Given the description of an element on the screen output the (x, y) to click on. 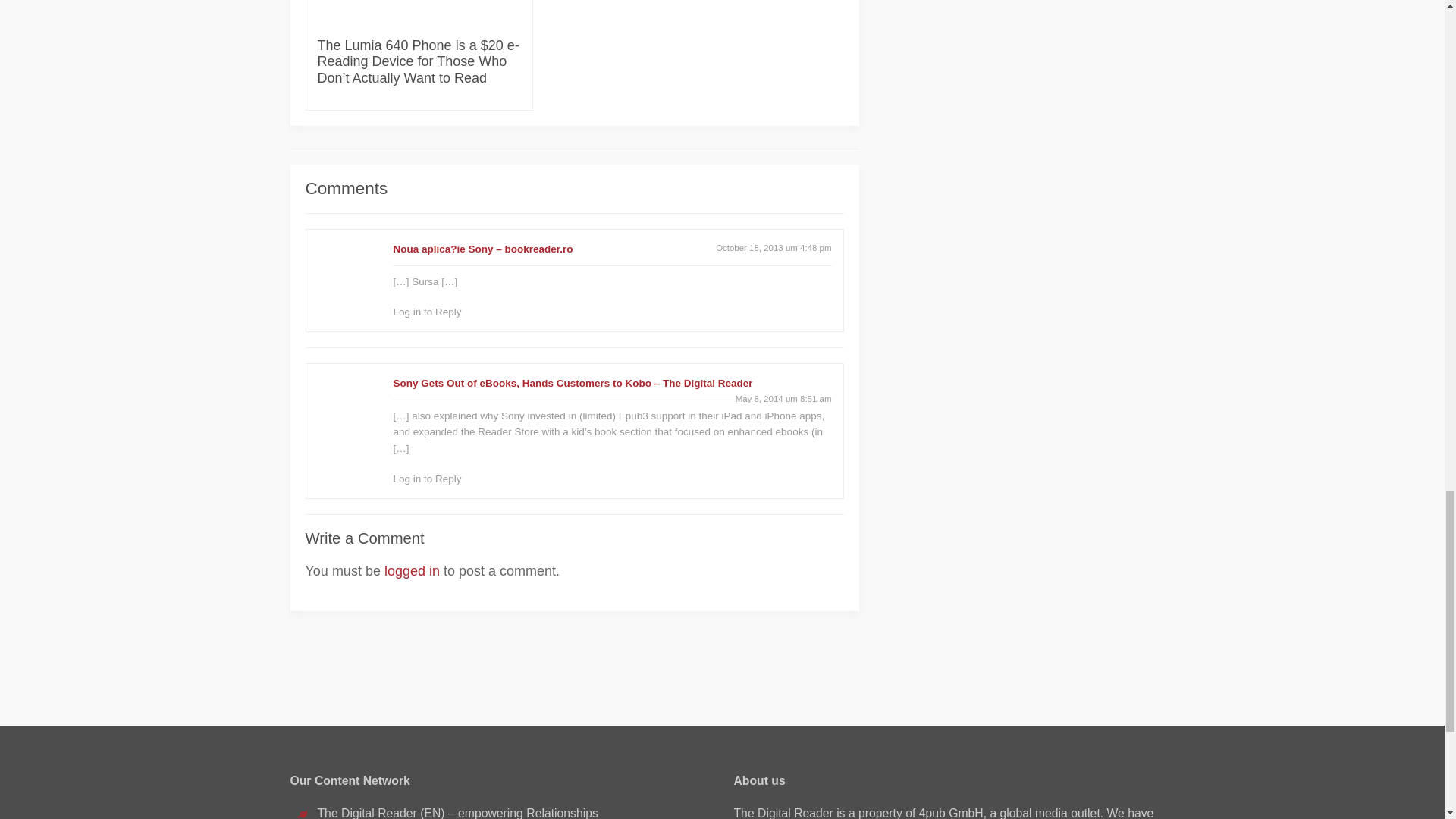
logged in (411, 570)
Log in to Reply (427, 311)
Log in to Reply (427, 478)
